Given the description of an element on the screen output the (x, y) to click on. 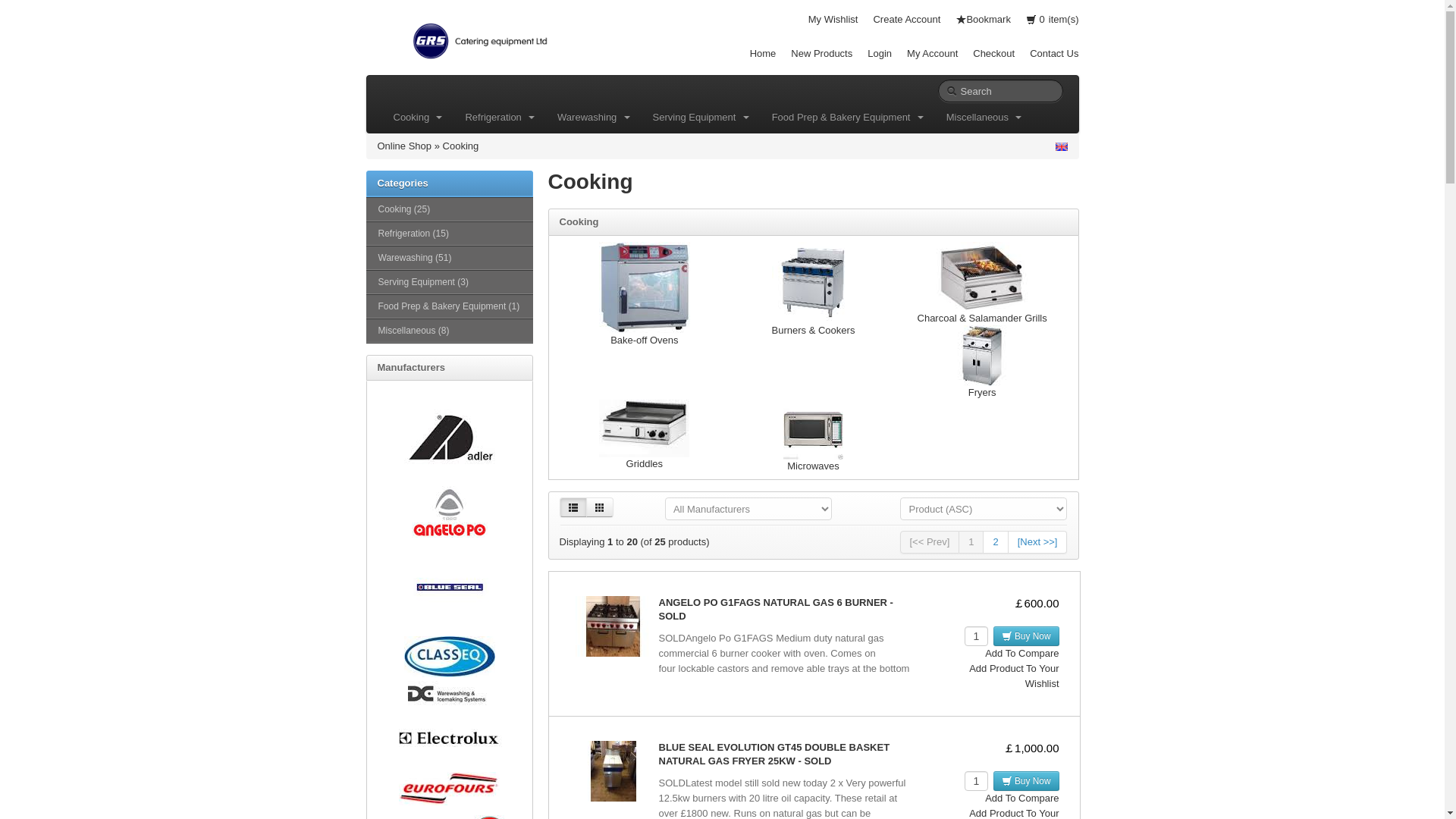
Eurofours (448, 788)
Electrolux (449, 739)
Create Account (906, 19)
Cooking   (417, 117)
GRS Catering Equipment (478, 38)
Classeq (449, 656)
Miscellaneous   (983, 117)
My Wishlist (833, 19)
Adler (449, 436)
DC Direct Catering (449, 693)
Checkout (993, 52)
Warewashing   (594, 117)
Online Shop (404, 145)
My Account (932, 52)
Home (762, 52)
